Given the description of an element on the screen output the (x, y) to click on. 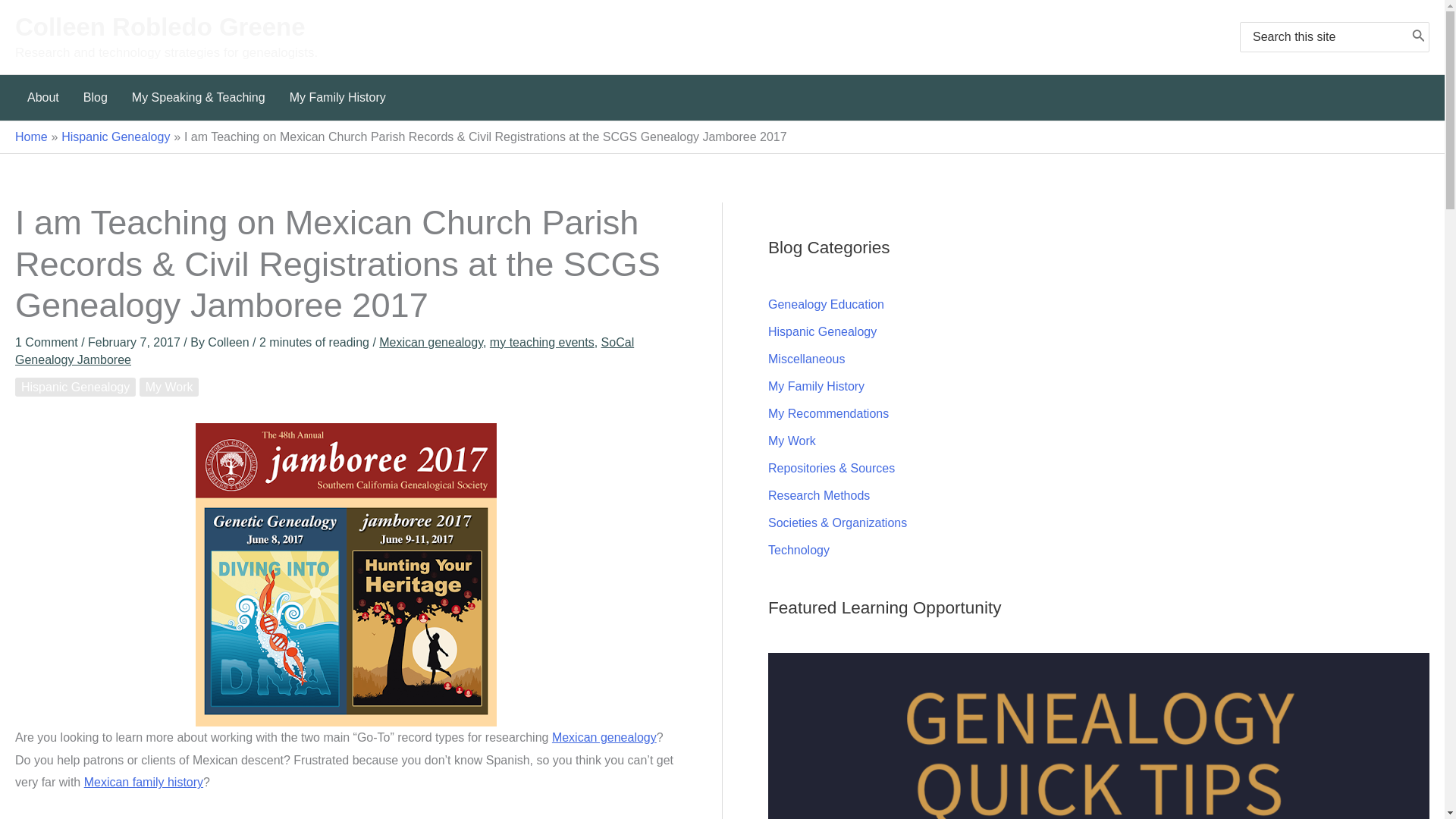
Blog (95, 97)
My Family History (337, 97)
Home (31, 136)
About (42, 97)
Colleen Robledo Greene (159, 26)
1 Comment (46, 341)
Search (1418, 36)
Hispanic Genealogy (115, 136)
